Given the description of an element on the screen output the (x, y) to click on. 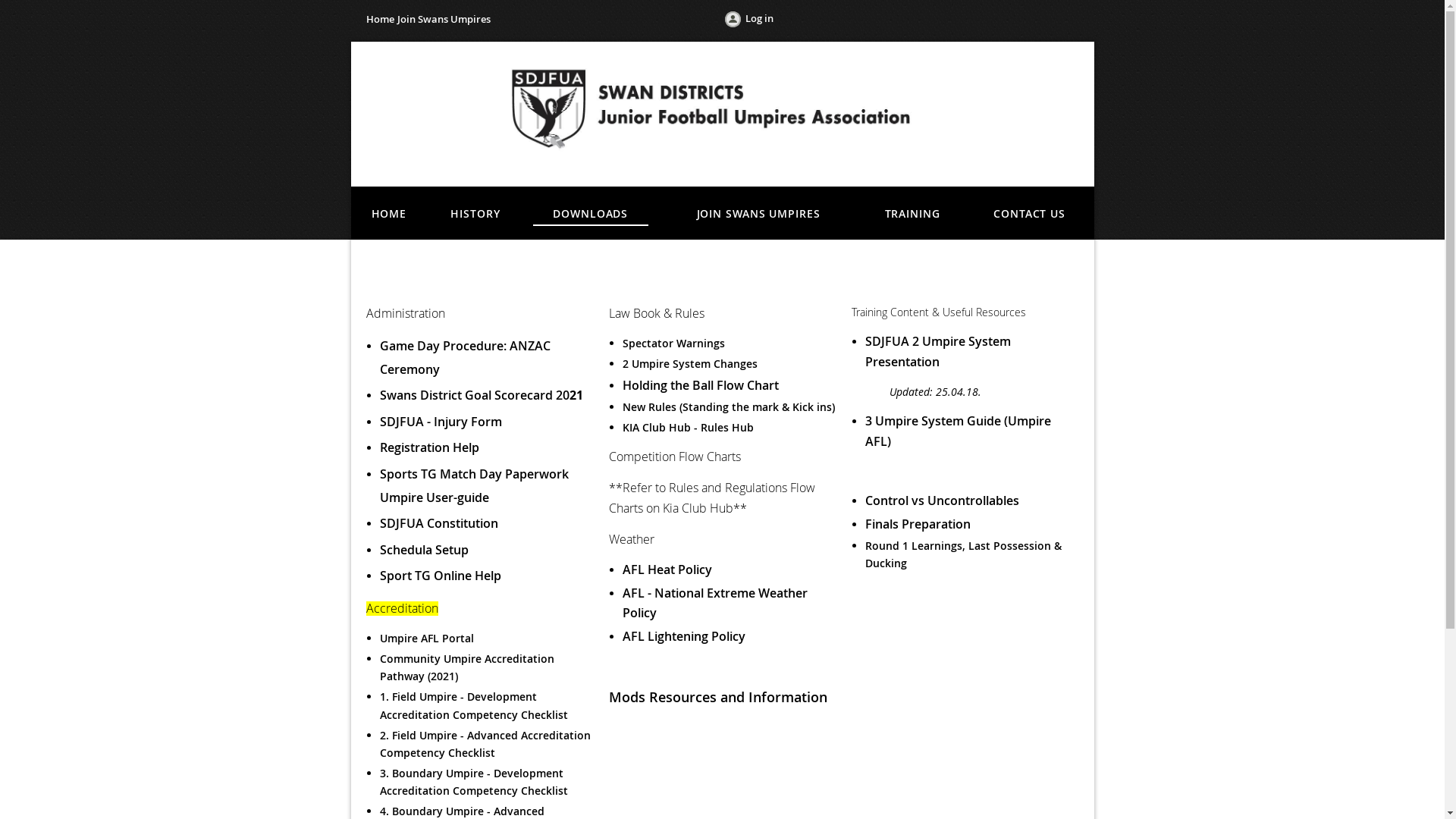
Registration Help  Element type: text (430, 447)
HISTORY Element type: text (475, 212)
New Rules (Standing the mark & Kick ins) Element type: text (727, 406)
Umpire AFL Portal Element type: text (426, 637)
AFL Heat Policy Element type: text (666, 569)
Holding the Ball Flow Chart Element type: text (699, 384)
2 Umpire System Changes Element type: text (688, 363)
Game Day Procedure: ANZAC Ceremony Element type: text (464, 357)
Round 1 Learnings, Last Possession & Ducking Element type: text (962, 554)
JOIN SWANS UMPIRES Element type: text (758, 212)
Schedula Setup Element type: text (423, 549)
Home Element type: text (379, 18)
KIA Club Hub - Rules Hub Element type: text (687, 427)
Spectator Warnings  Element type: text (674, 342)
3 Umpire System Guide (Umpire AFL) Element type: text (957, 431)
Log in Element type: text (746, 20)
TRAINING Element type: text (912, 212)
Finals Preparation Element type: text (916, 523)
CONTACT US Element type: text (1029, 212)
AFL - National Extreme Weather Policy Element type: text (713, 602)
DOWNLOADS Element type: text (590, 212)
SDJFUA - Injury Form Element type: text (440, 421)
HOME Element type: text (388, 212)
SDJFUA 2 Umpire System Presentation Element type: text (937, 351)
Sport TG Online Help Element type: text (439, 575)
Mods Resources and Information Element type: text (717, 696)
Join Swans Umpires Element type: text (443, 18)
SDJFUA Constitution Element type: text (438, 522)
AFL Lightening Policy Element type: text (682, 635)
Control vs Uncontrollables Element type: text (941, 500)
Community Umpire Accreditation Pathway (2021) Element type: text (466, 667)
Sports TG Match Day Paperwork Umpire User-guide Element type: text (473, 485)
Swans District Goal Scorecard 20 Element type: text (473, 394)
